Given the description of an element on the screen output the (x, y) to click on. 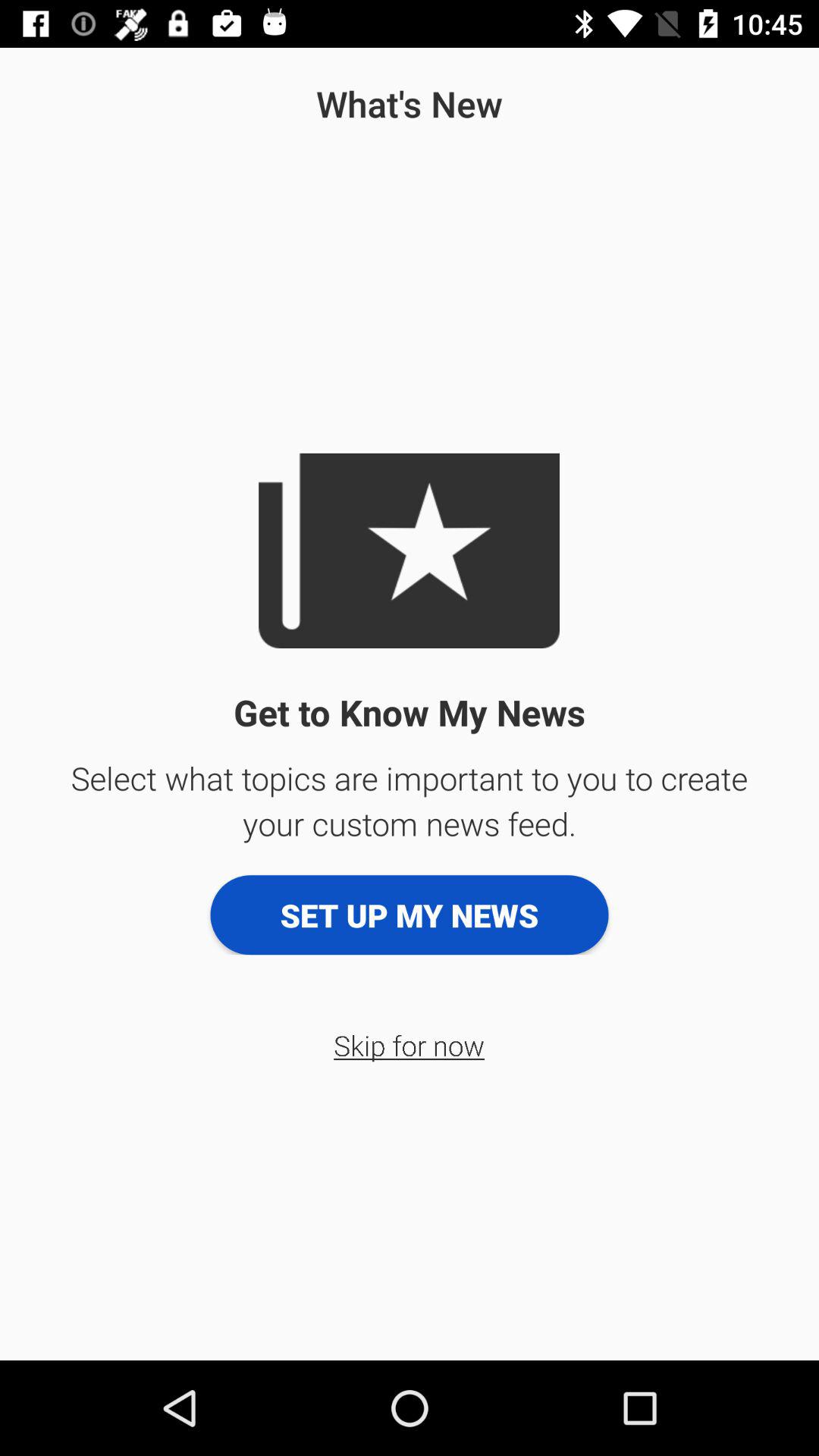
turn off icon below select what topics app (409, 914)
